Given the description of an element on the screen output the (x, y) to click on. 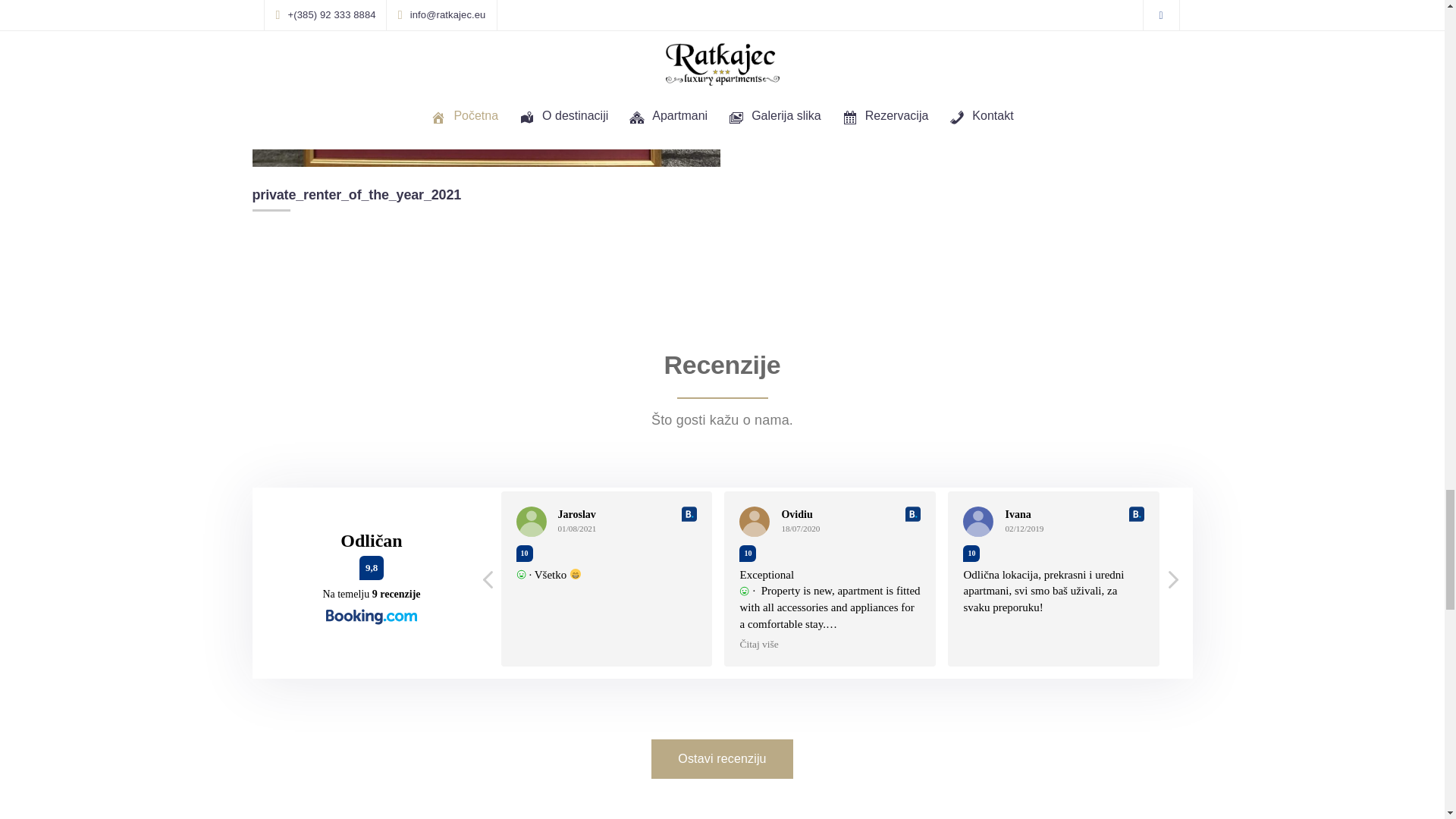
Ostavi recenziju (721, 758)
Recenzija (721, 758)
